Given the description of an element on the screen output the (x, y) to click on. 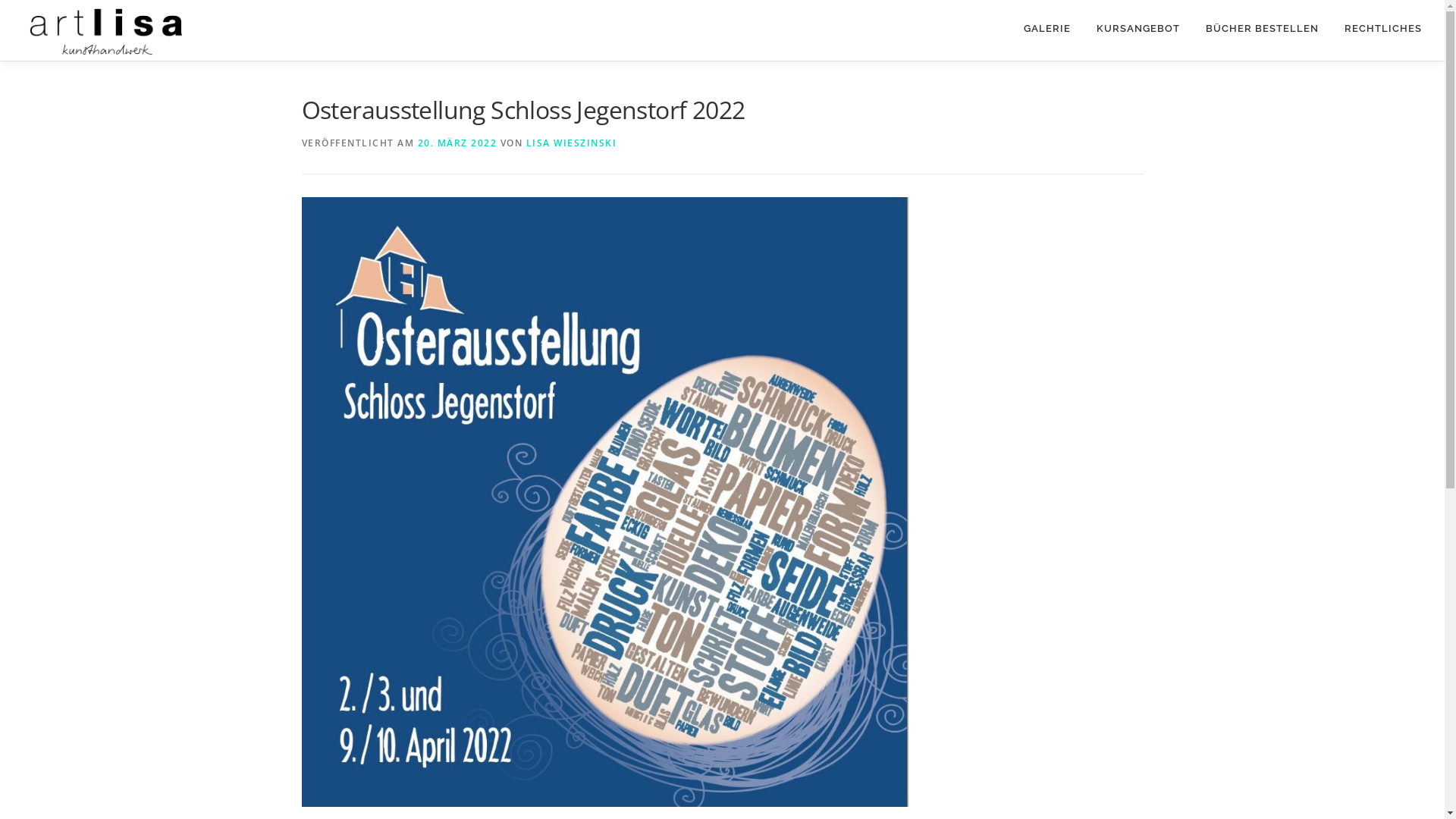
KURSANGEBOT Element type: text (1137, 28)
GALERIE Element type: text (1046, 28)
RECHTLICHES Element type: text (1376, 28)
LISA WIESZINSKI Element type: text (571, 142)
